Given the description of an element on the screen output the (x, y) to click on. 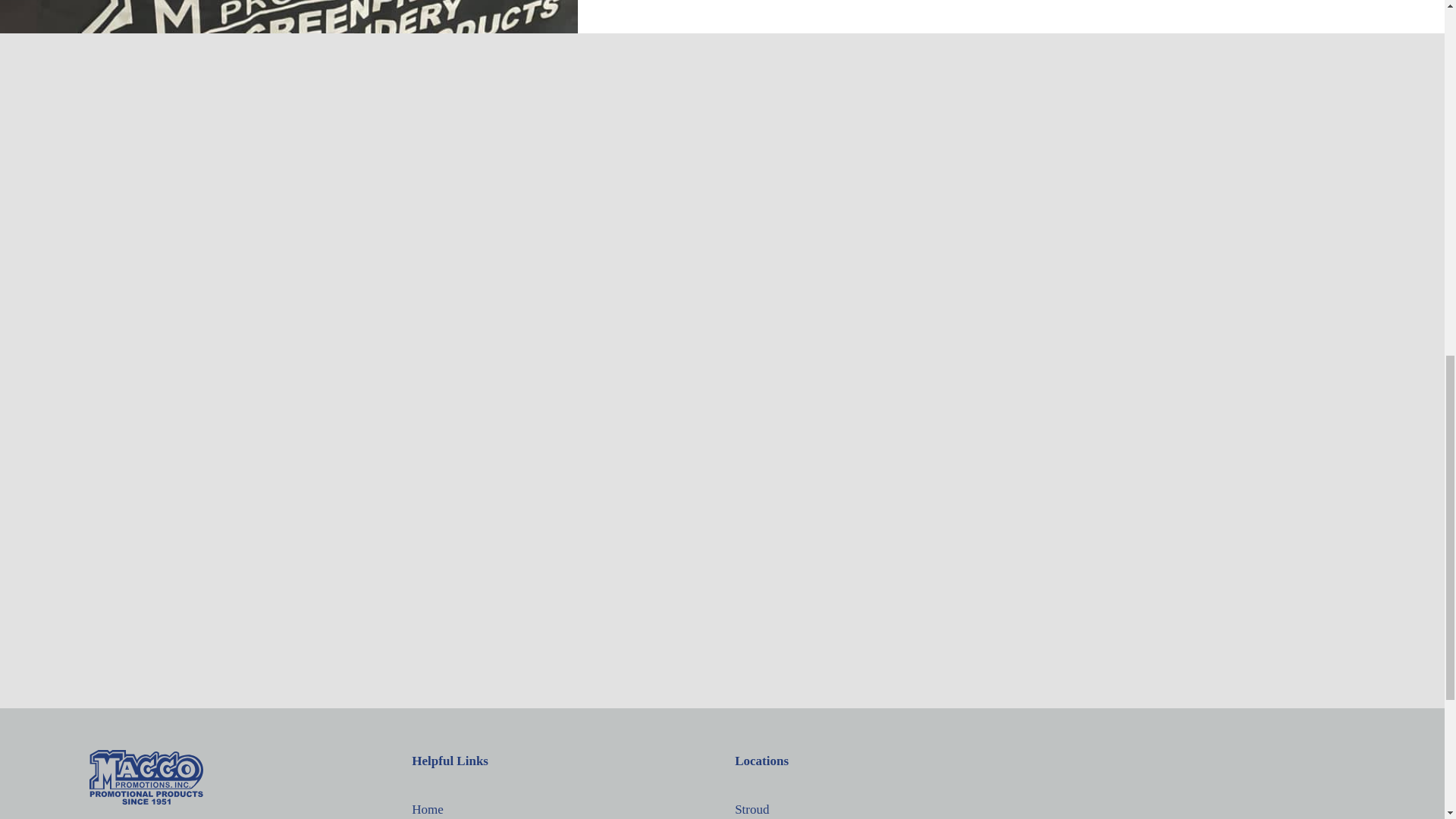
Stroud (883, 808)
Home (560, 808)
